Given the description of an element on the screen output the (x, y) to click on. 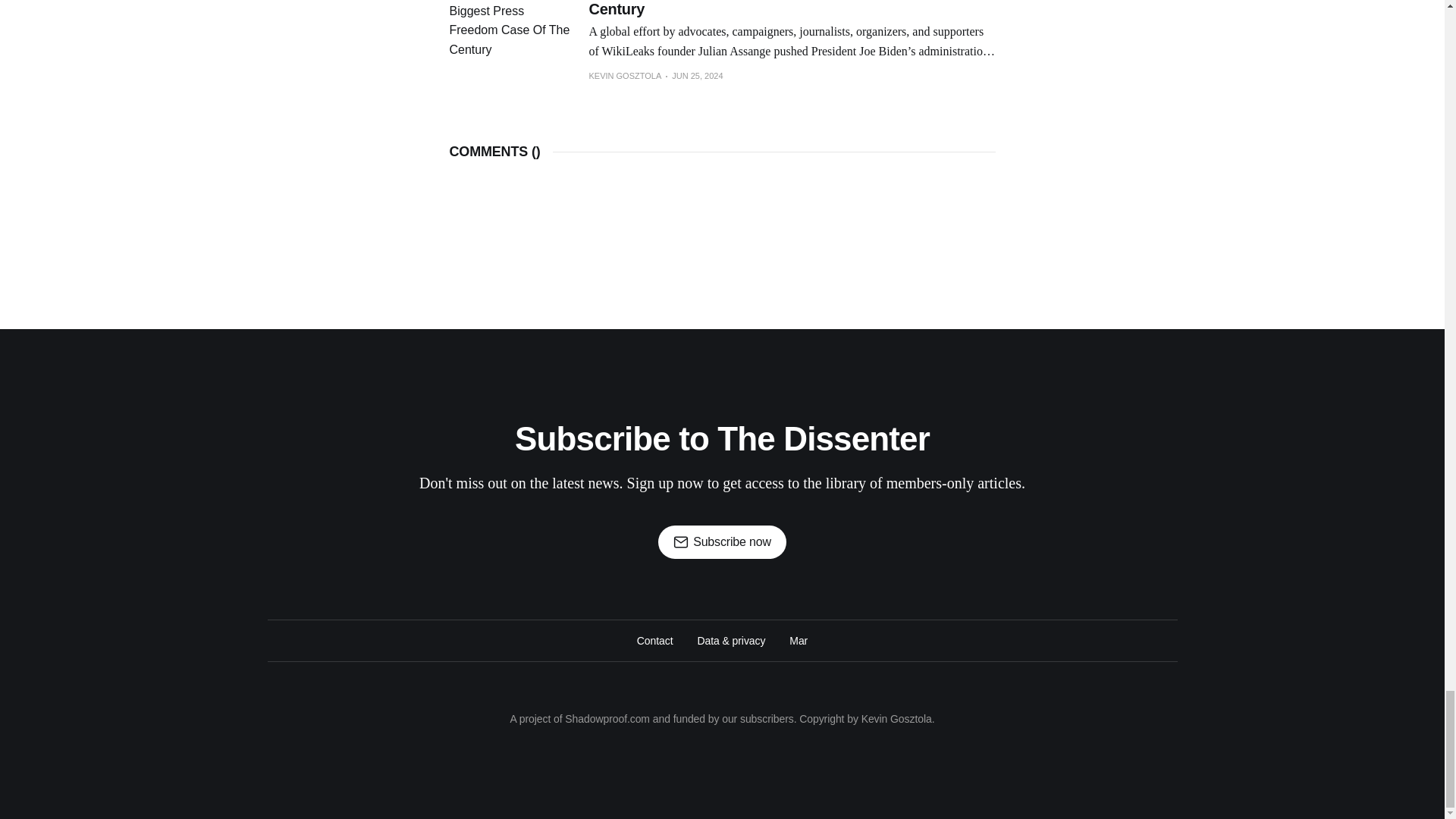
Contact (654, 640)
Mar (798, 640)
Subscribe now (722, 541)
